Given the description of an element on the screen output the (x, y) to click on. 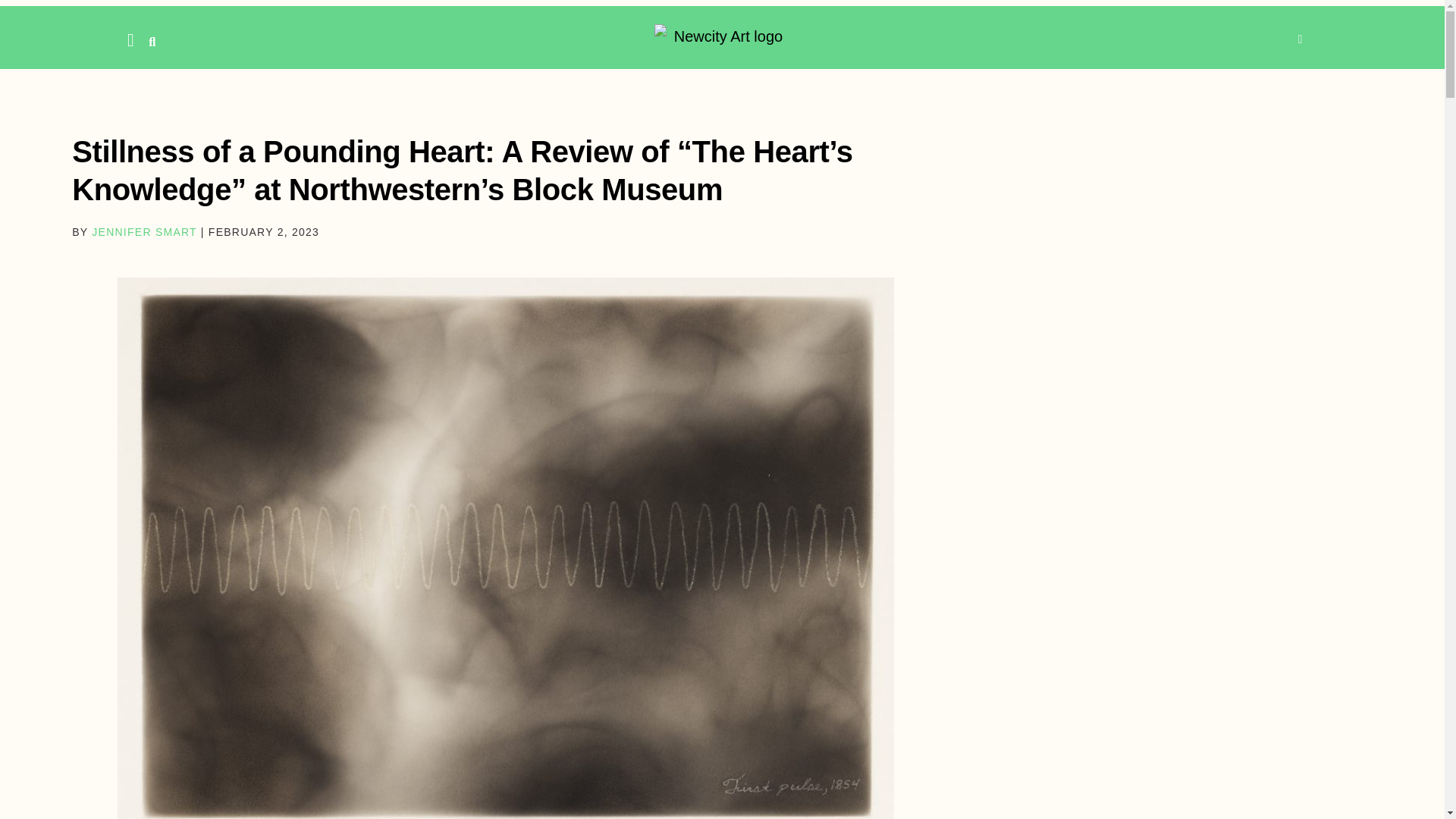
JENNIFER SMART (143, 232)
NewcityArt (721, 36)
